Given the description of an element on the screen output the (x, y) to click on. 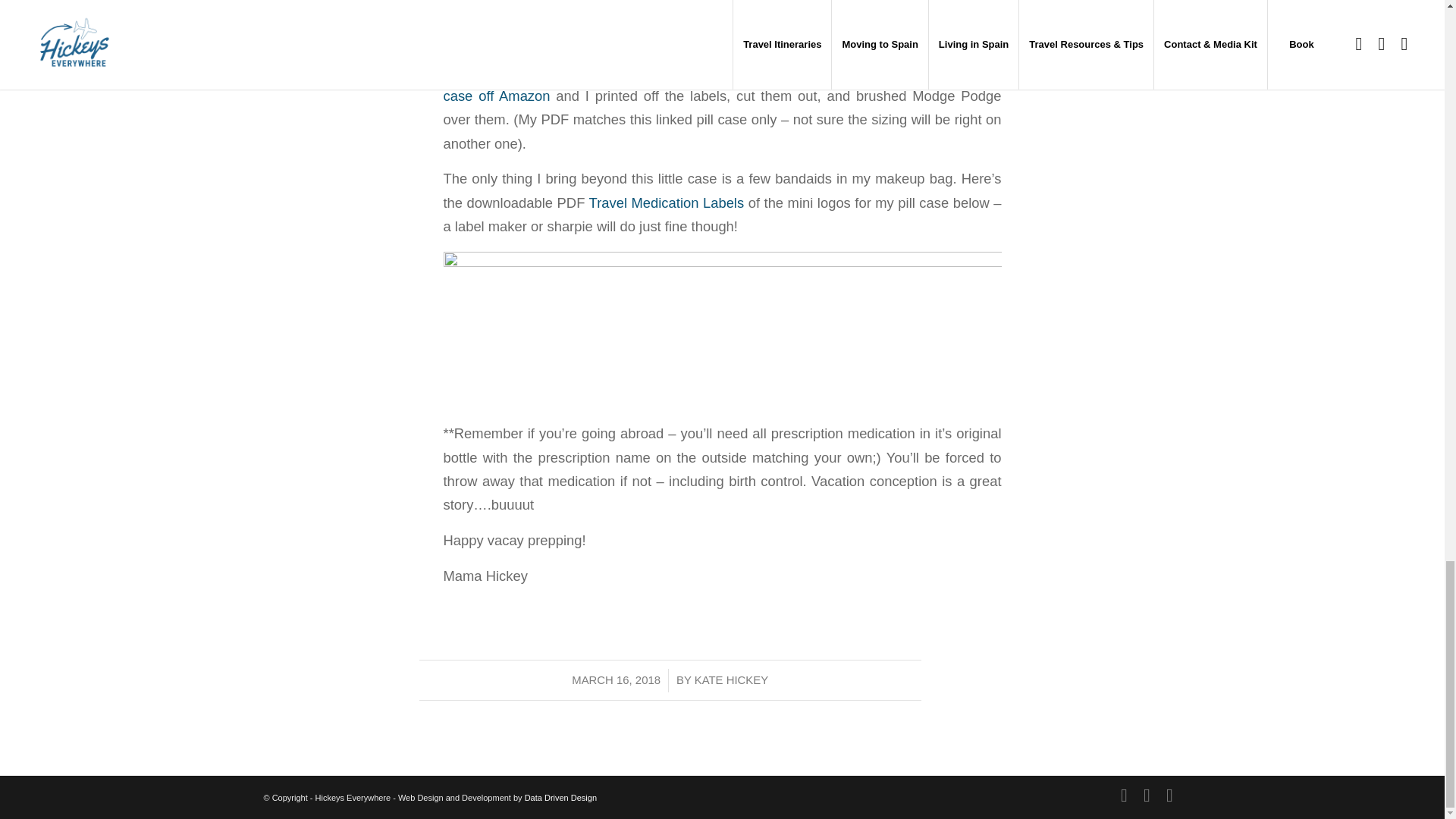
KATE HICKEY (731, 680)
Posts by Kate Hickey (731, 680)
Facebook (1169, 794)
Instagram (1124, 794)
Data Driven Design (560, 797)
Travel Medication Labels  (668, 202)
little case off Amazon (721, 84)
Pinterest (1146, 794)
